Given the description of an element on the screen output the (x, y) to click on. 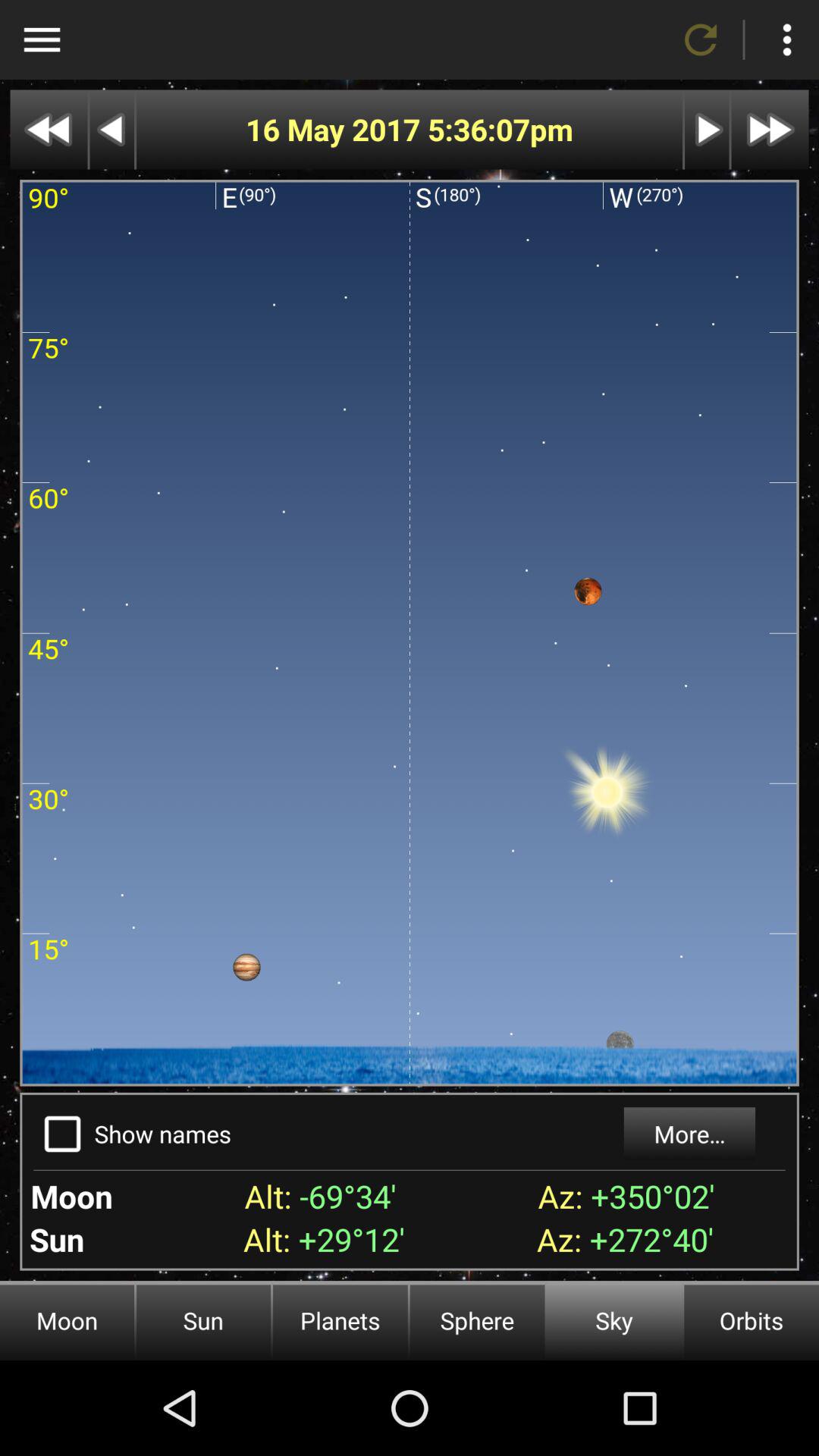
flip until the 5:36:07 (478, 129)
